Given the description of an element on the screen output the (x, y) to click on. 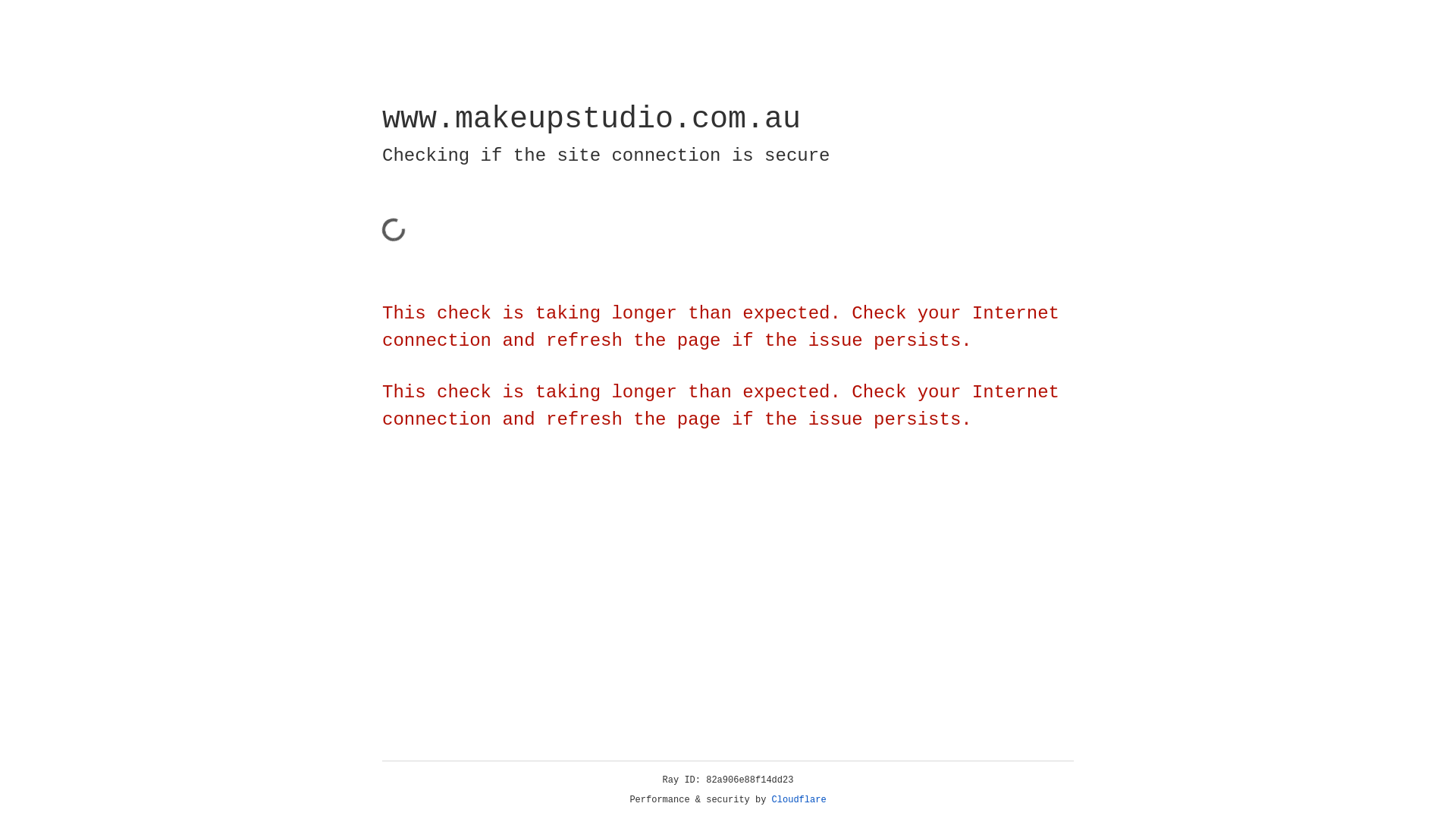
Cloudflare Element type: text (798, 799)
